Given the description of an element on the screen output the (x, y) to click on. 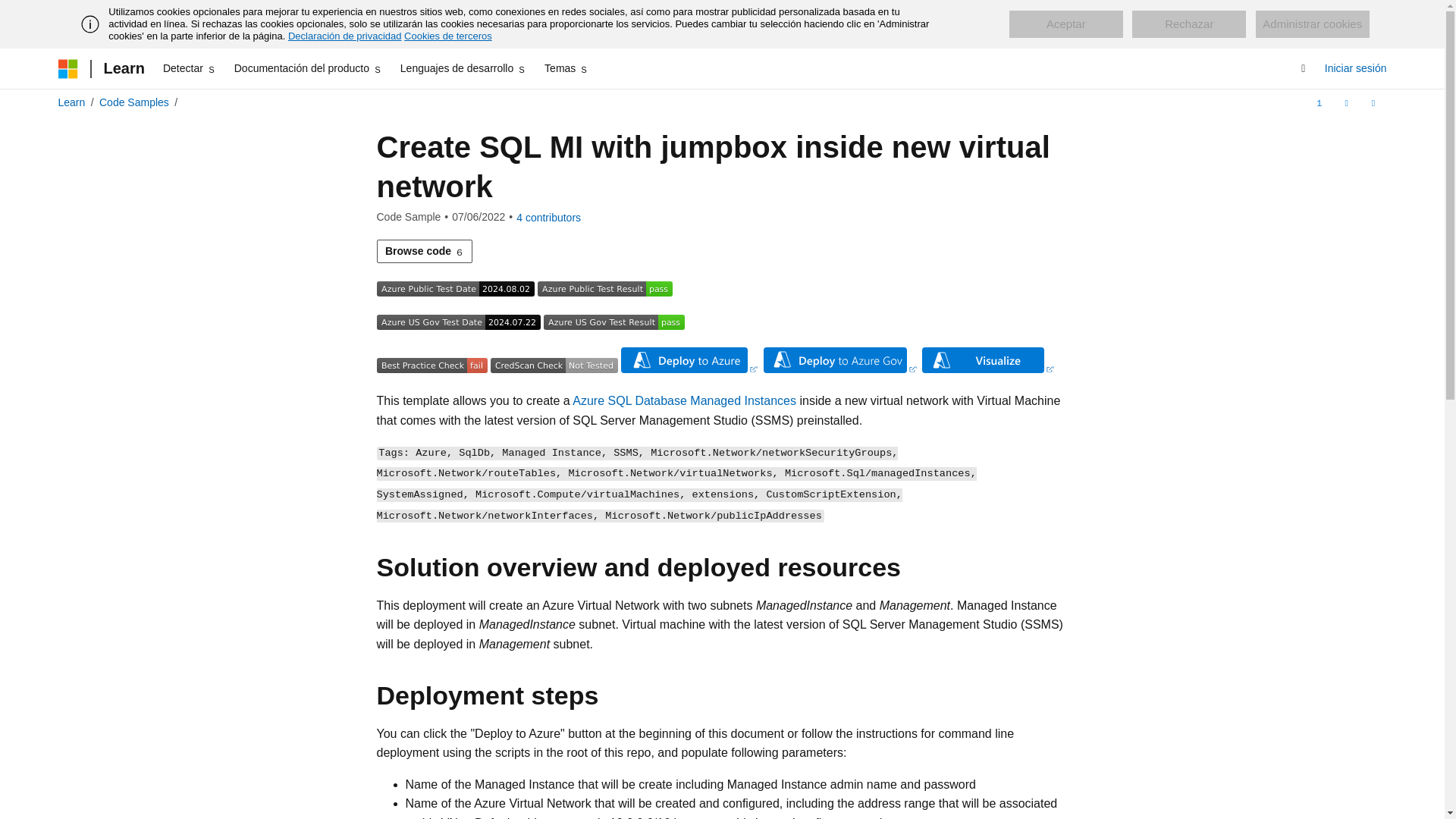
Ir al contenido principal (11, 11)
Learn (71, 102)
Administrar cookies (1312, 23)
Aceptar (1065, 23)
Temas (566, 68)
Lenguajes de desarrollo (463, 68)
View all contributors (548, 217)
Rechazar (1189, 23)
Code Samples (133, 102)
Learn (123, 68)
